Given the description of an element on the screen output the (x, y) to click on. 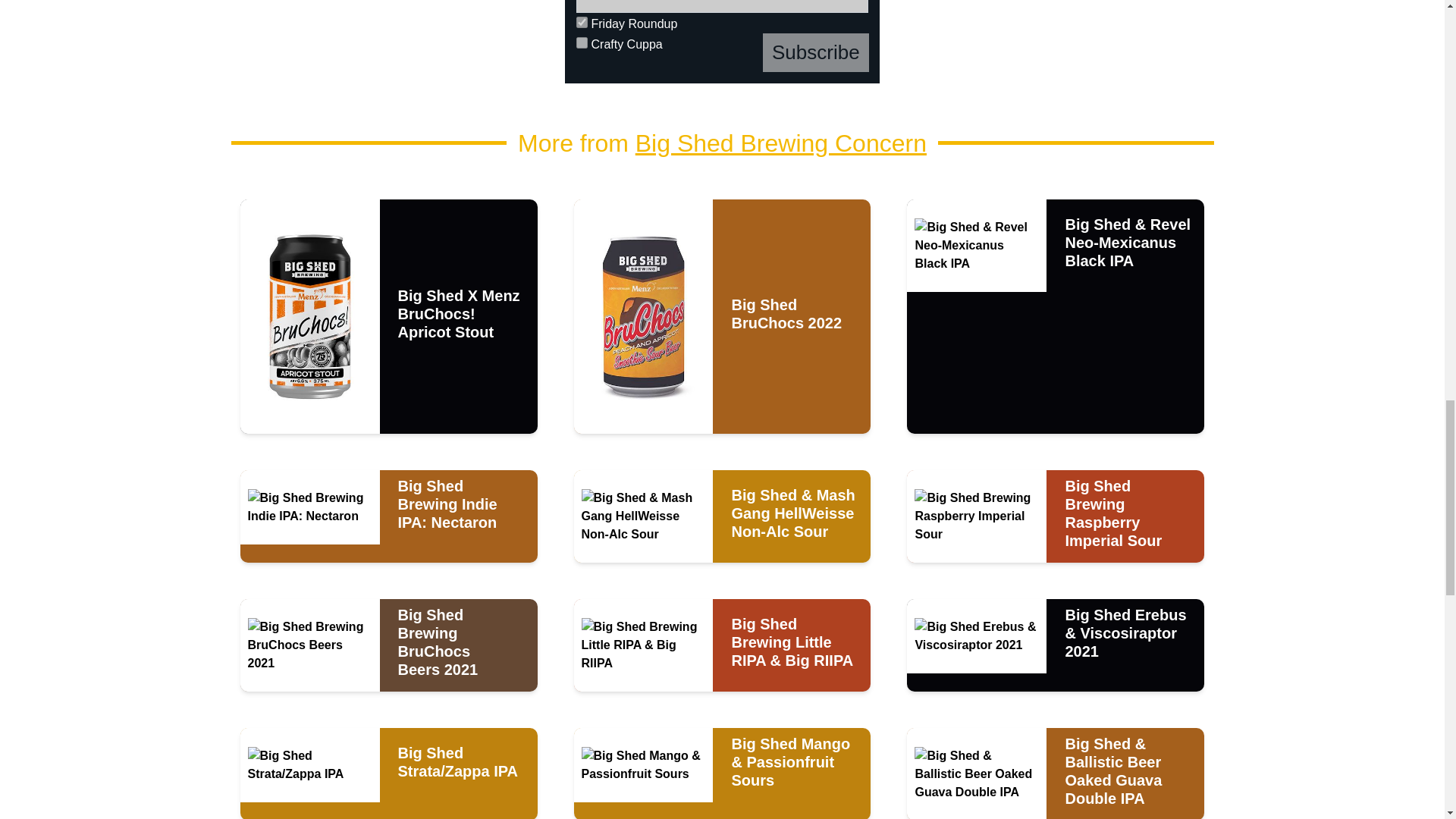
friday (582, 21)
cuppa (582, 42)
Subscribe (815, 52)
Bintani Abstrax B (1055, 42)
Podcast B2 (389, 42)
